Given the description of an element on the screen output the (x, y) to click on. 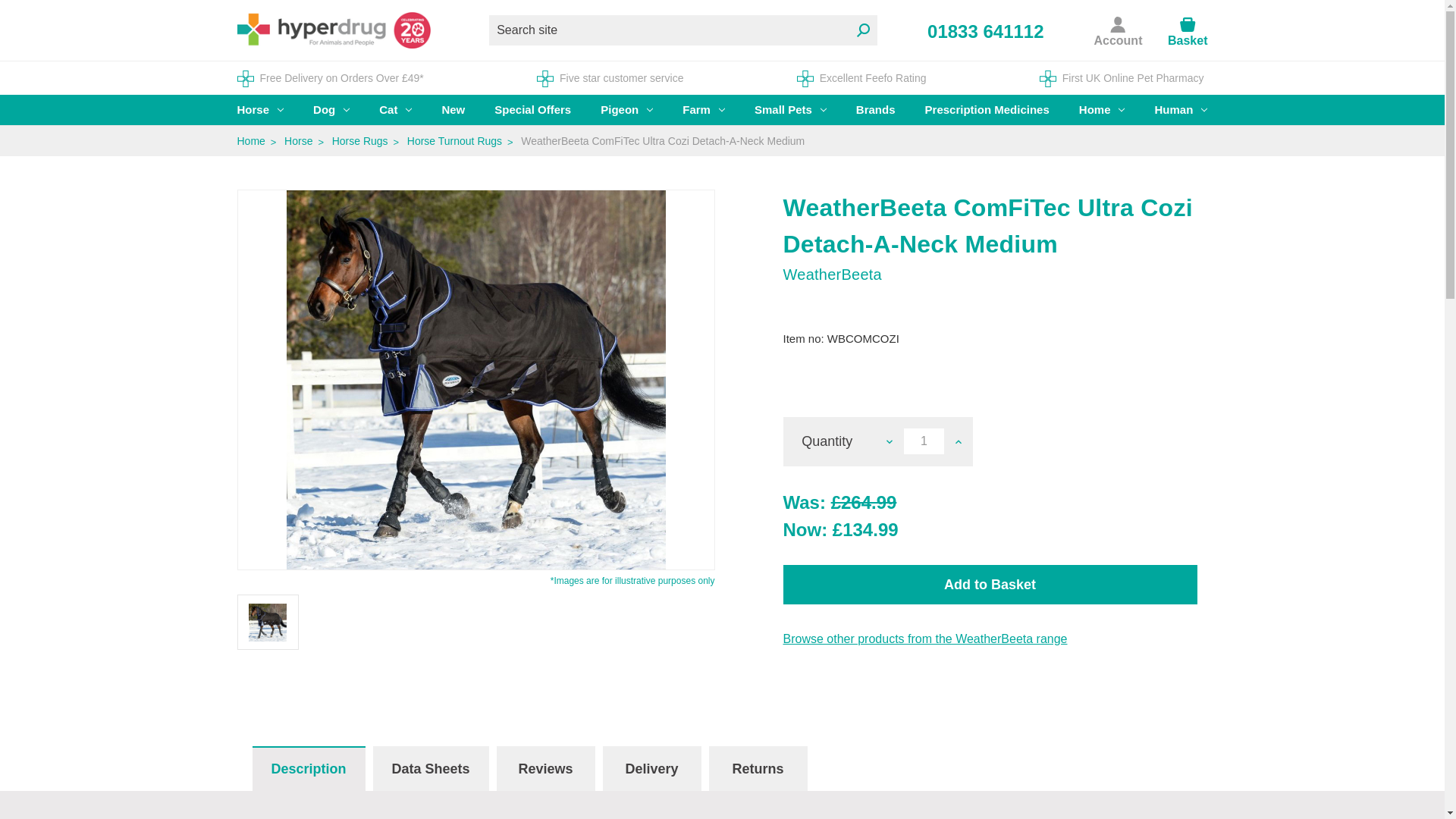
01833 641112 (985, 31)
1 (923, 441)
Dog (331, 110)
Add to Basket (989, 584)
Basket (1187, 40)
Hyperdrug (332, 30)
Horse (260, 110)
Account (1117, 28)
